Given the description of an element on the screen output the (x, y) to click on. 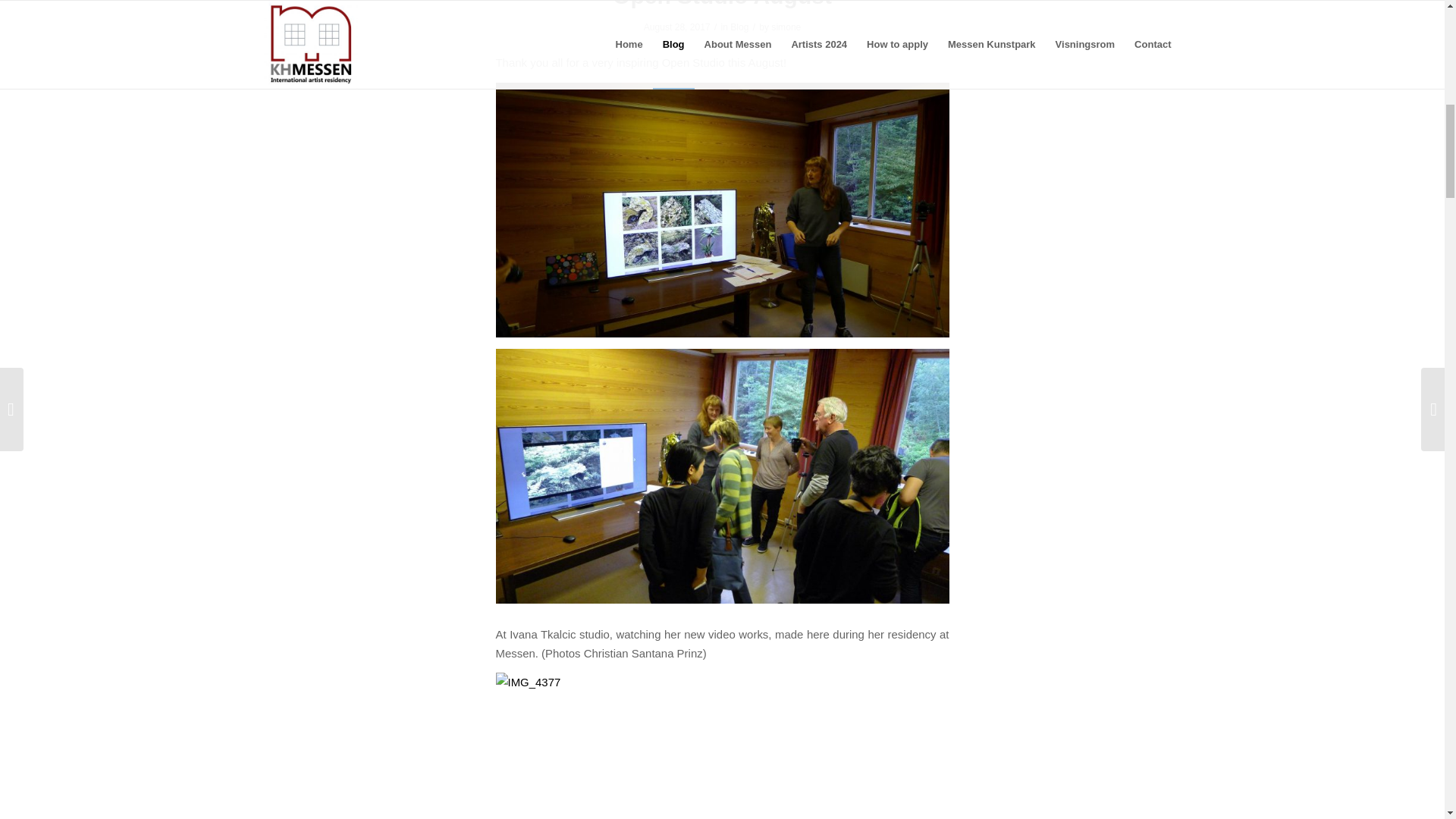
simone (785, 27)
Posts by simone (785, 27)
Blog (739, 27)
